Given the description of an element on the screen output the (x, y) to click on. 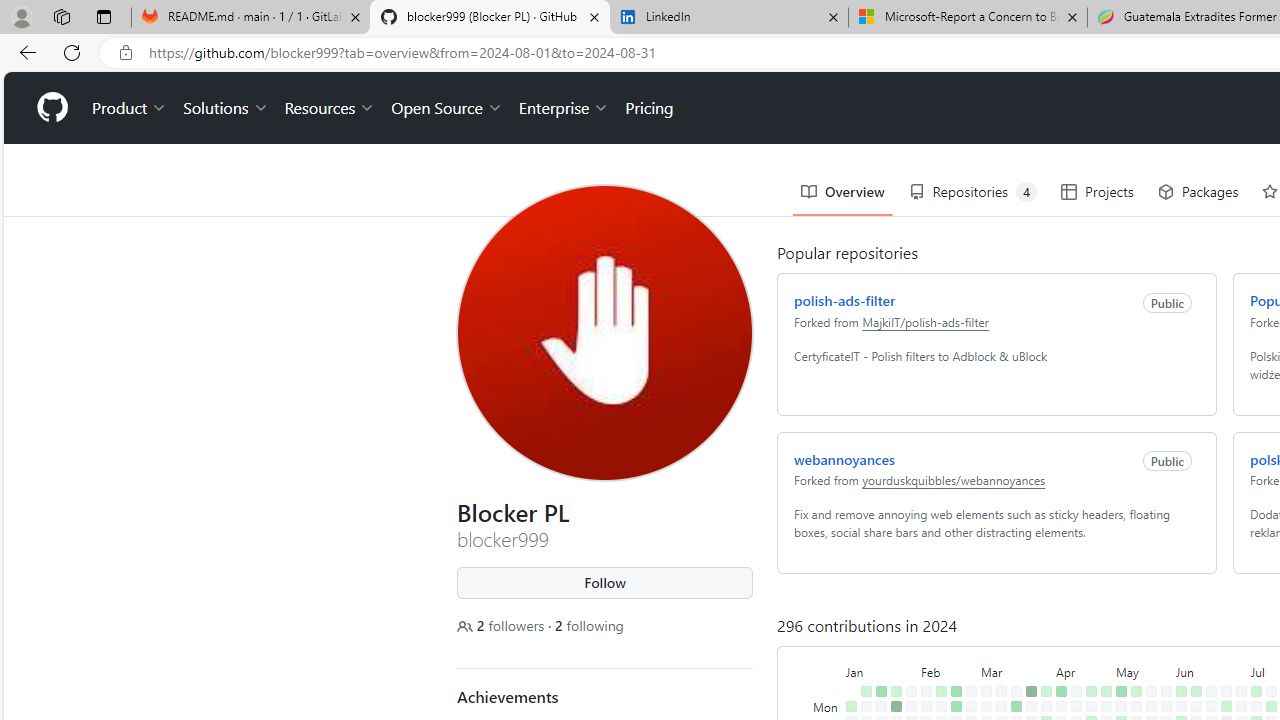
No contributions on January 15th. (881, 706)
Solutions (225, 107)
No contributions on June 3rd. (1181, 706)
View blocker999's full-sized avatar (604, 332)
2 contributions on May 12th. (1136, 691)
No contributions on March 25th. (1031, 706)
1 contribution on March 31st. (1046, 691)
1 contribution on July 7th. (1256, 691)
June (1211, 670)
No contributions on July 14th. (1271, 691)
5 contributions on February 19th. (956, 706)
No contributions on March 11th. (1001, 706)
No contributions on June 10th. (1195, 706)
